Given the description of an element on the screen output the (x, y) to click on. 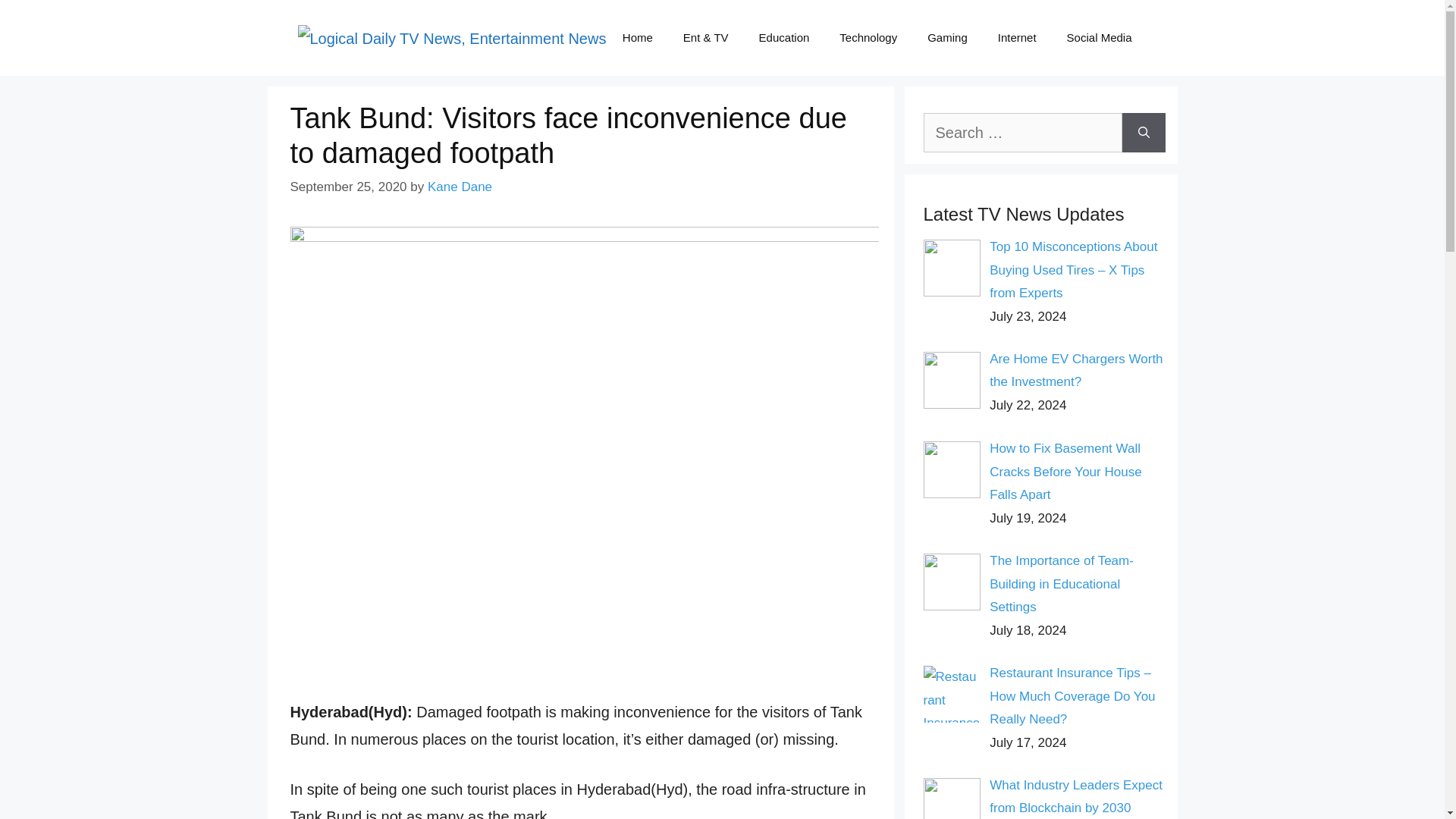
Gaming (947, 37)
Are Home EV Chargers Worth the Investment? (1075, 370)
The Importance of Team-Building in Educational Settings (1062, 583)
Technology (868, 37)
Internet (1016, 37)
Search for: (1022, 132)
View all posts by Kane Dane (460, 186)
Education (784, 37)
Social Media (1099, 37)
Kane Dane (460, 186)
Home (637, 37)
What Industry Leaders Expect from Blockchain by 2030 (1075, 796)
